Given the description of an element on the screen output the (x, y) to click on. 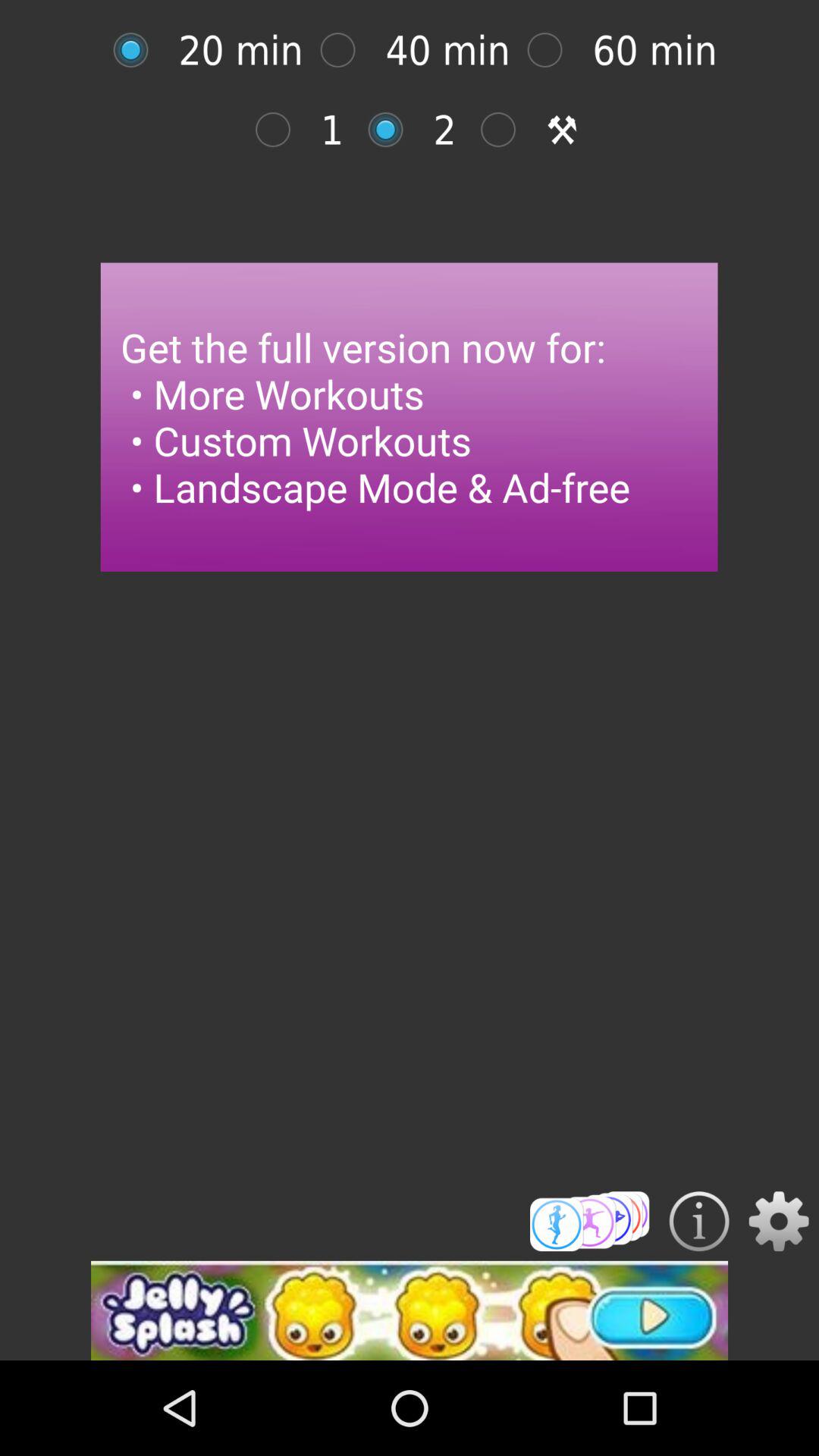
open options button (778, 1221)
